Given the description of an element on the screen output the (x, y) to click on. 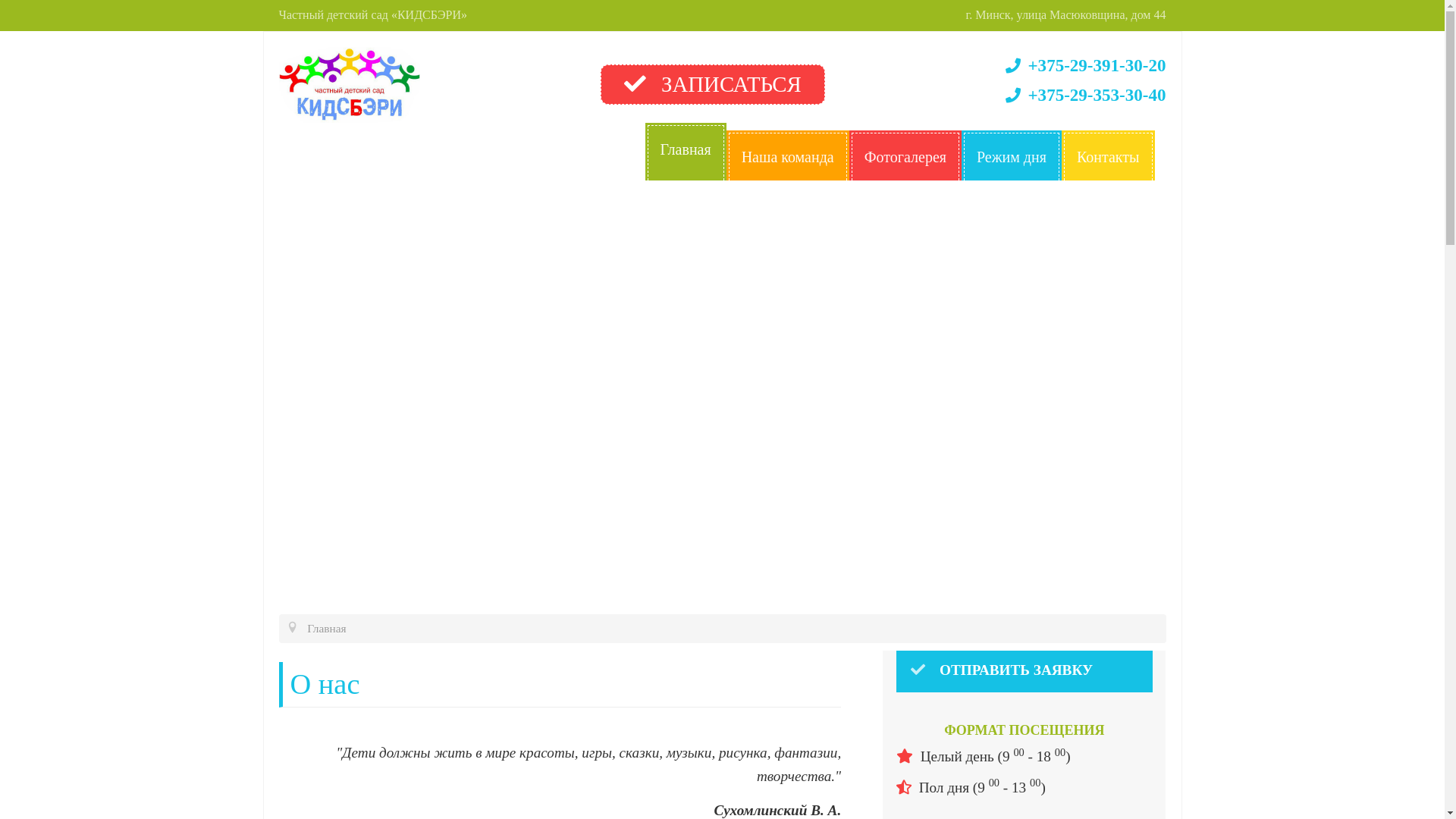
+375-29-391-30-20 Element type: text (1085, 65)
+375-29-353-30-40 Element type: text (1085, 94)
